Given the description of an element on the screen output the (x, y) to click on. 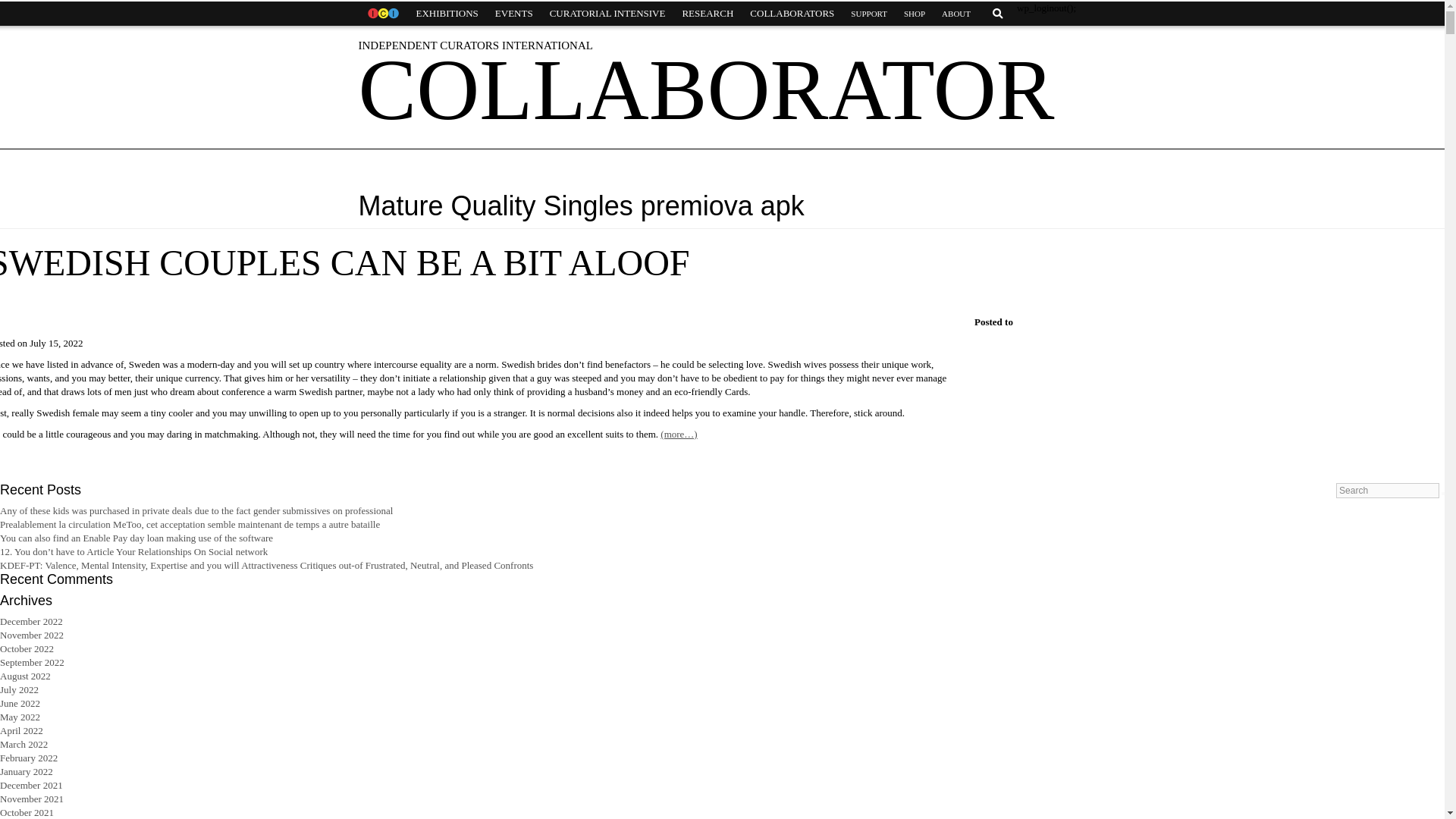
HOME (382, 13)
COLLABORATORS (792, 13)
CURATORIAL INTENSIVE (607, 13)
RESEARCH (706, 13)
EXHIBITIONS (446, 13)
EVENTS (513, 13)
